Given the description of an element on the screen output the (x, y) to click on. 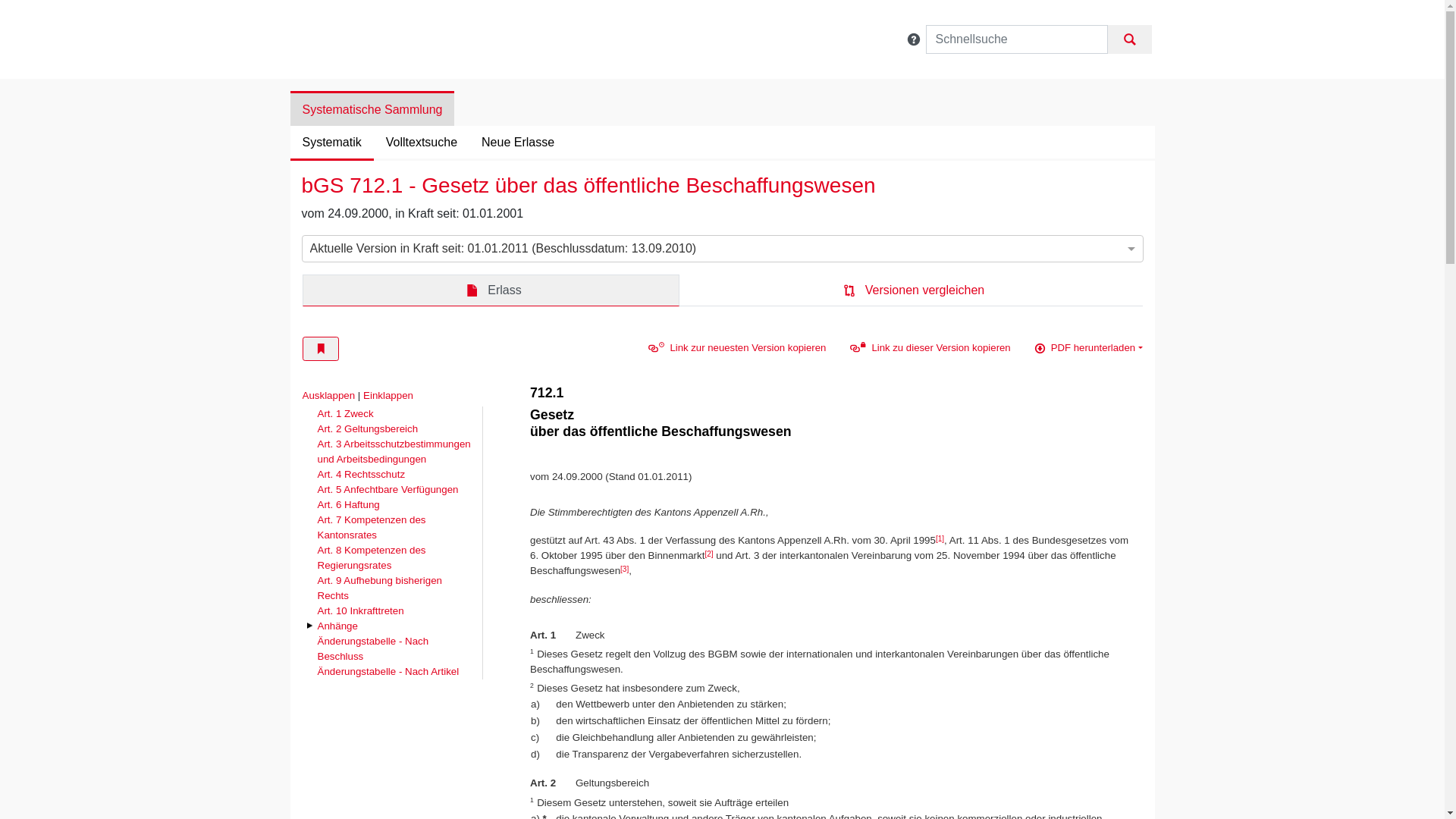
[1] Element type: text (939, 538)
Erlass Element type: text (490, 290)
Art. 4 Rechtsschutz Element type: text (360, 474)
Volltextsuche Element type: text (421, 141)
Versionen vergleichen Element type: text (910, 290)
Einklappen Element type: text (388, 395)
Art. 7 Kompetenzen des Kantonsrates Element type: text (393, 527)
Art. 2 Geltungsbereich Element type: text (366, 428)
PDF herunterladen Element type: text (1085, 347)
[3] Element type: text (624, 568)
Link zu dieser Version kopieren Element type: text (927, 347)
Ausklappen Element type: text (327, 395)
Art. 6 Haftung Element type: text (347, 504)
Neue Erlasse Element type: text (517, 141)
Art. 10 Inkrafttreten Element type: text (359, 610)
Art. 8 Kompetenzen des Regierungsrates Element type: text (393, 557)
Systematik Element type: text (331, 141)
Link zur neuesten Version kopieren Element type: text (733, 347)
Art. 3 Arbeitsschutzbestimmungen und Arbeitsbedingungen Element type: text (393, 451)
[2] Element type: text (708, 553)
Systematische Sammlung Element type: text (371, 109)
Art. 1 Zweck Element type: text (344, 413)
Art. 9 Aufhebung bisherigen Rechts Element type: text (393, 588)
